Given the description of an element on the screen output the (x, y) to click on. 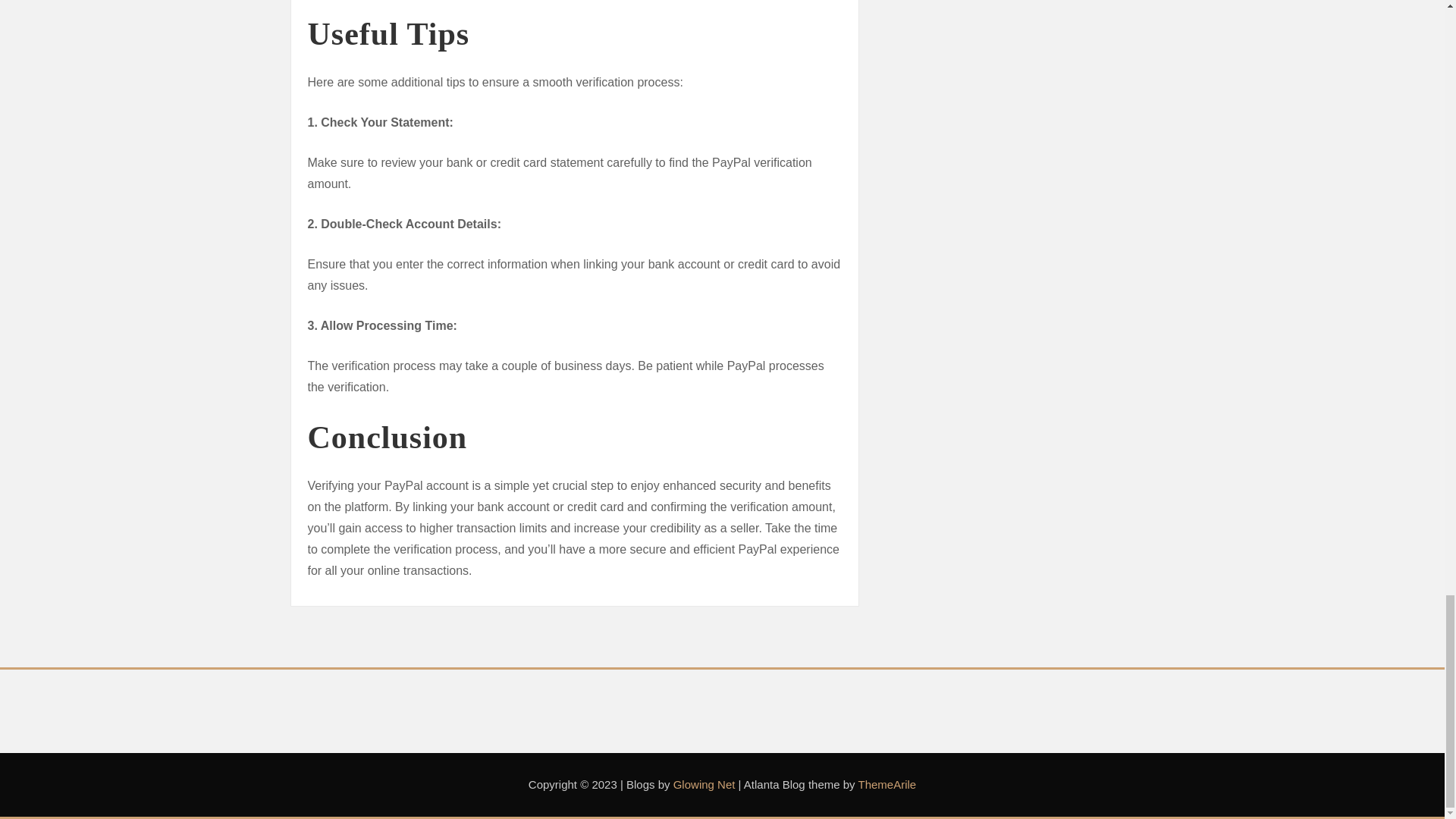
ThemeArile (886, 784)
Glowing Net (703, 784)
